Given the description of an element on the screen output the (x, y) to click on. 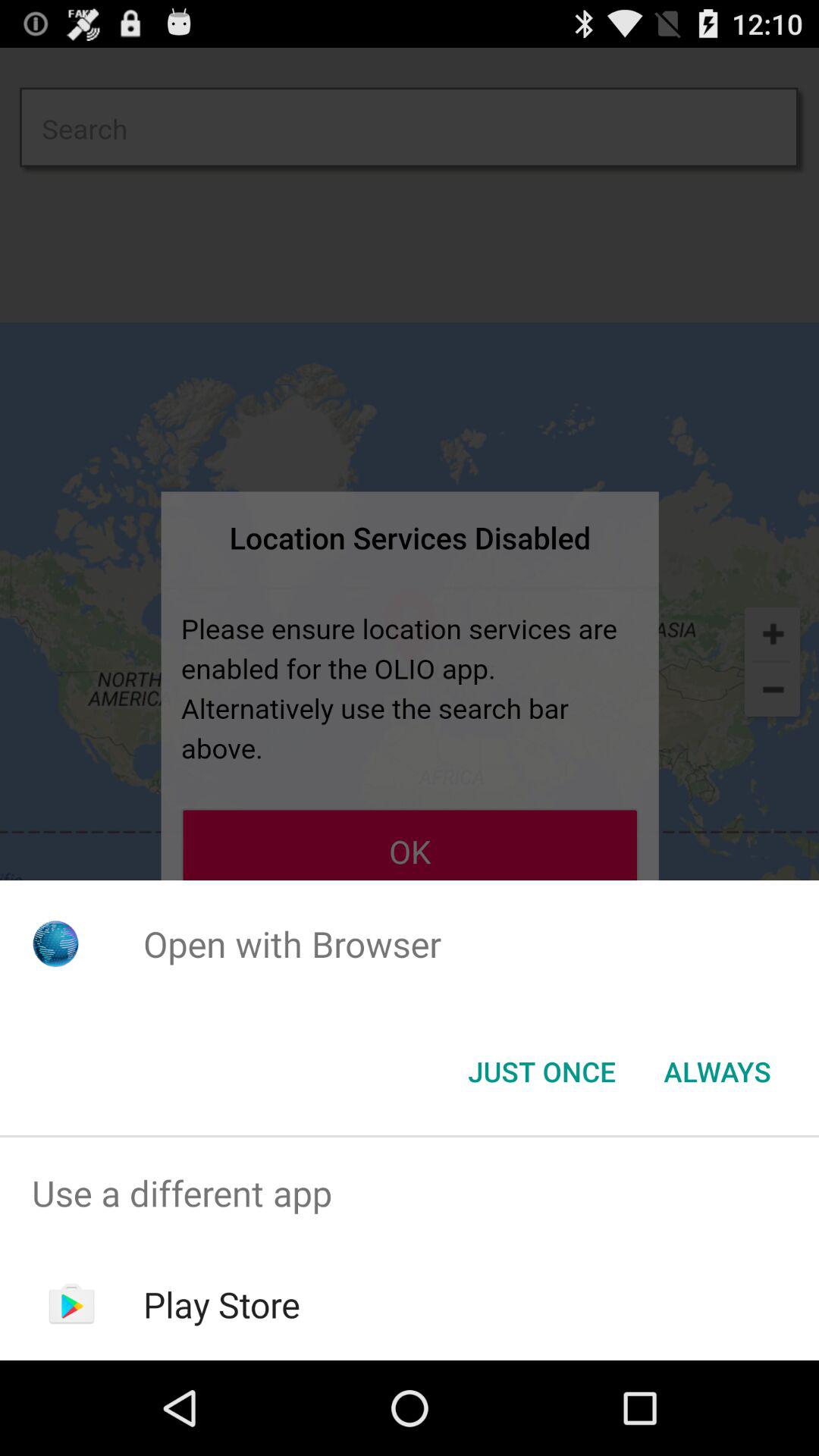
flip to use a different item (409, 1192)
